Given the description of an element on the screen output the (x, y) to click on. 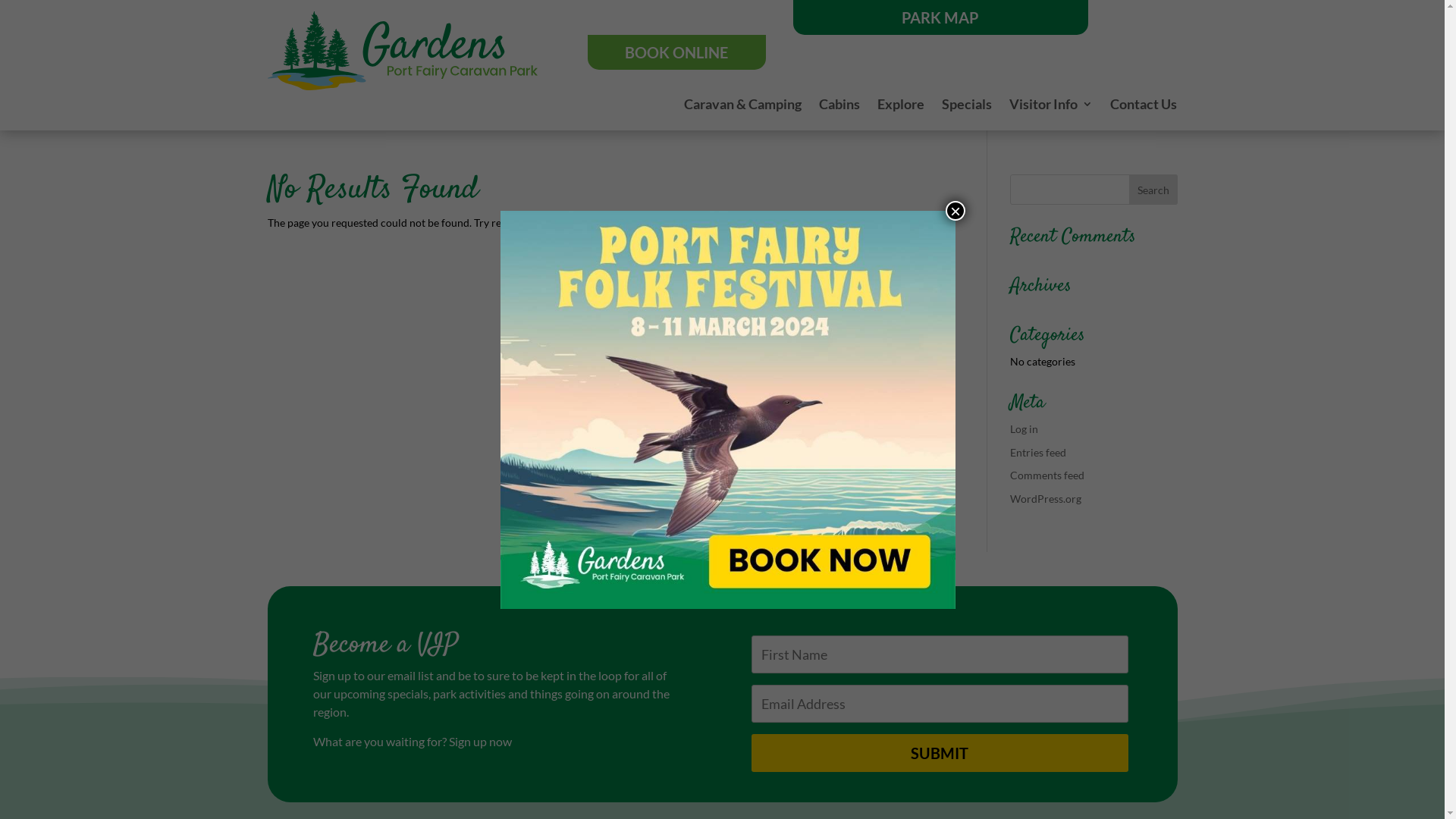
Search Element type: text (1153, 189)
Comments feed Element type: text (1047, 474)
Submit Element type: text (938, 752)
Log in Element type: text (1024, 428)
Caravan & Camping Element type: text (742, 106)
Specials Element type: text (966, 106)
WordPress.org Element type: text (1045, 498)
Gardens Element type: hover (401, 50)
Contact Us Element type: text (1143, 106)
PARK MAP Element type: text (940, 17)
Entries feed Element type: text (1038, 451)
Explore Element type: text (900, 106)
1 Element type: hover (727, 409)
Visitor Info Element type: text (1050, 106)
Cabins Element type: text (839, 106)
BOOK ONLINE Element type: text (676, 51)
